Given the description of an element on the screen output the (x, y) to click on. 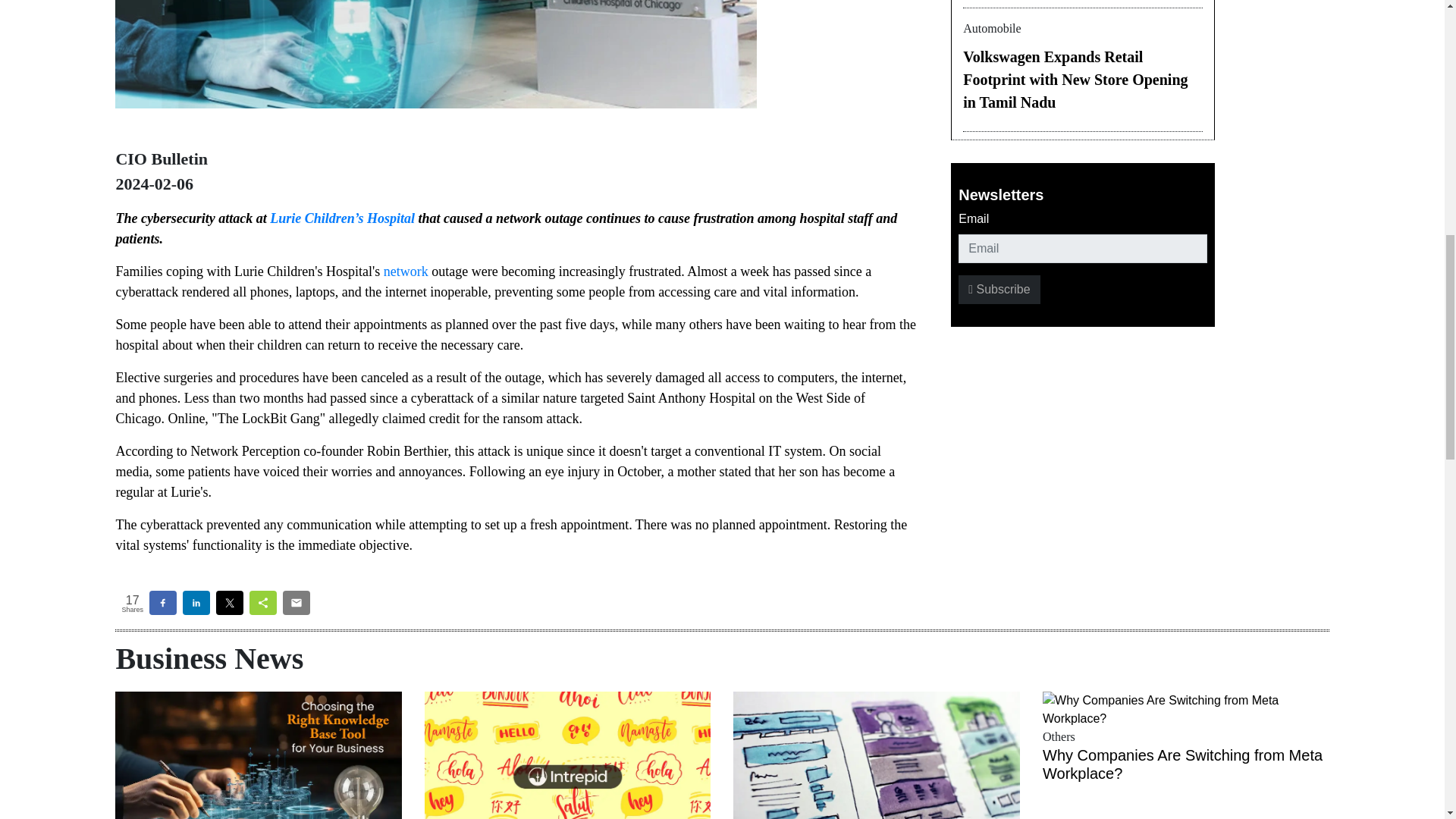
network (406, 271)
